Given the description of an element on the screen output the (x, y) to click on. 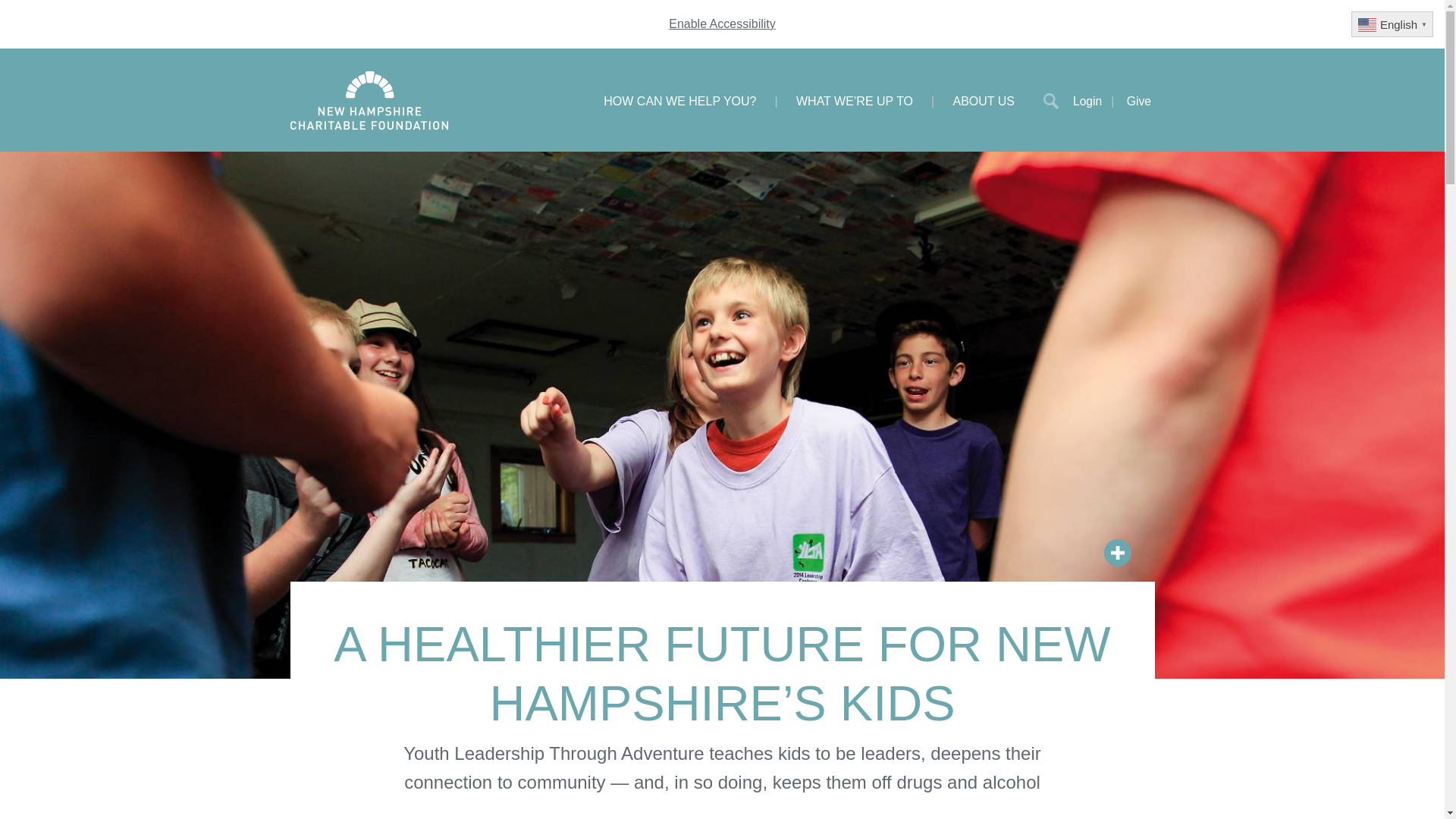
ABOUT US (984, 99)
Enable Accessibility (722, 23)
NH Charitable Foundation (367, 100)
Give (1138, 100)
Login (1097, 100)
HOW CAN WE HELP YOU? (679, 99)
